Given the description of an element on the screen output the (x, y) to click on. 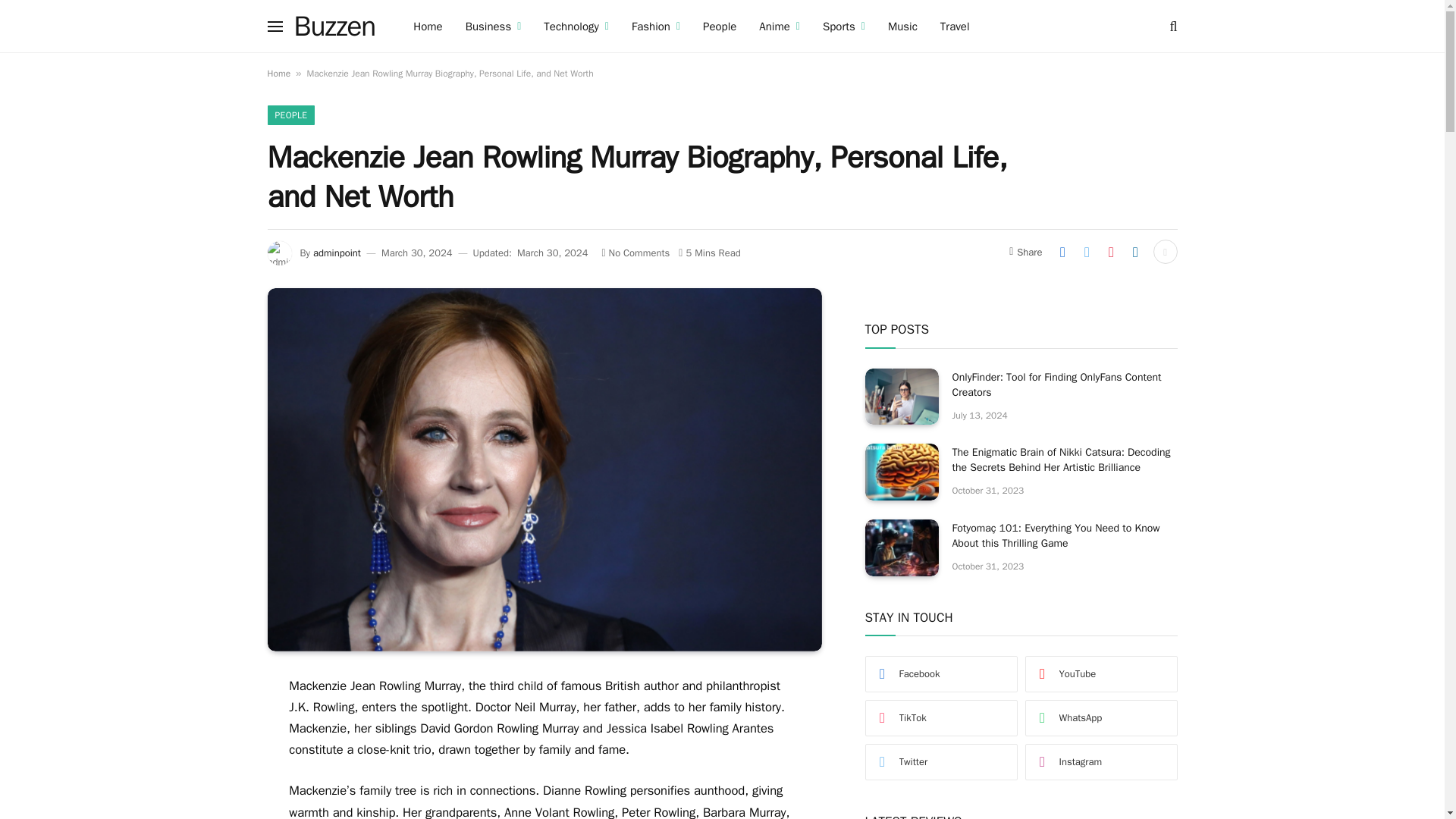
Share on Pinterest (1110, 251)
Buzzen (334, 25)
Buzzen (334, 25)
Share on LinkedIn (1135, 251)
Posts by adminpoint (337, 252)
Share on Facebook (1062, 251)
